Given the description of an element on the screen output the (x, y) to click on. 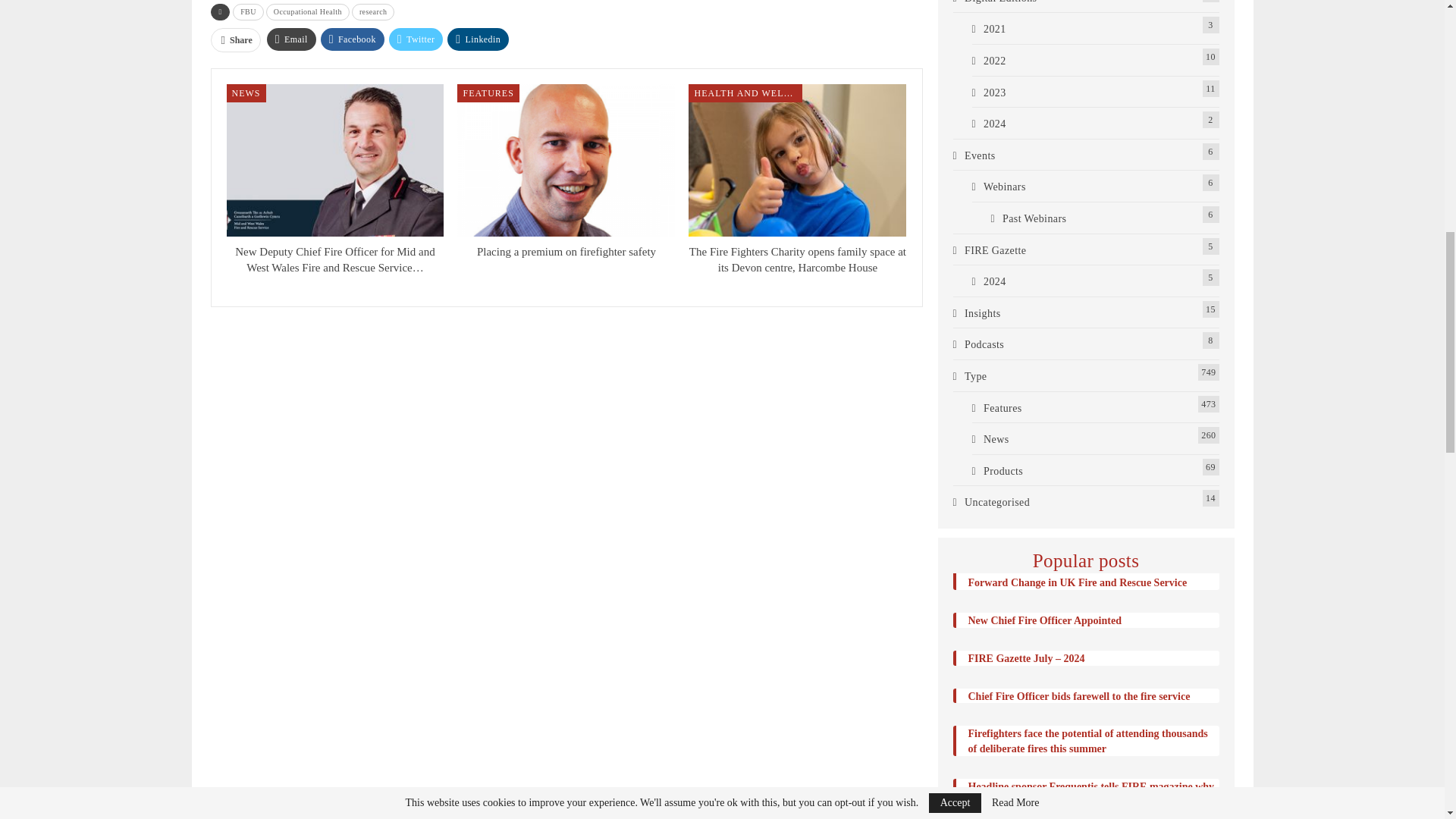
Placing a premium on firefighter safety (566, 160)
Placing a premium on firefighter safety (566, 251)
